Given the description of an element on the screen output the (x, y) to click on. 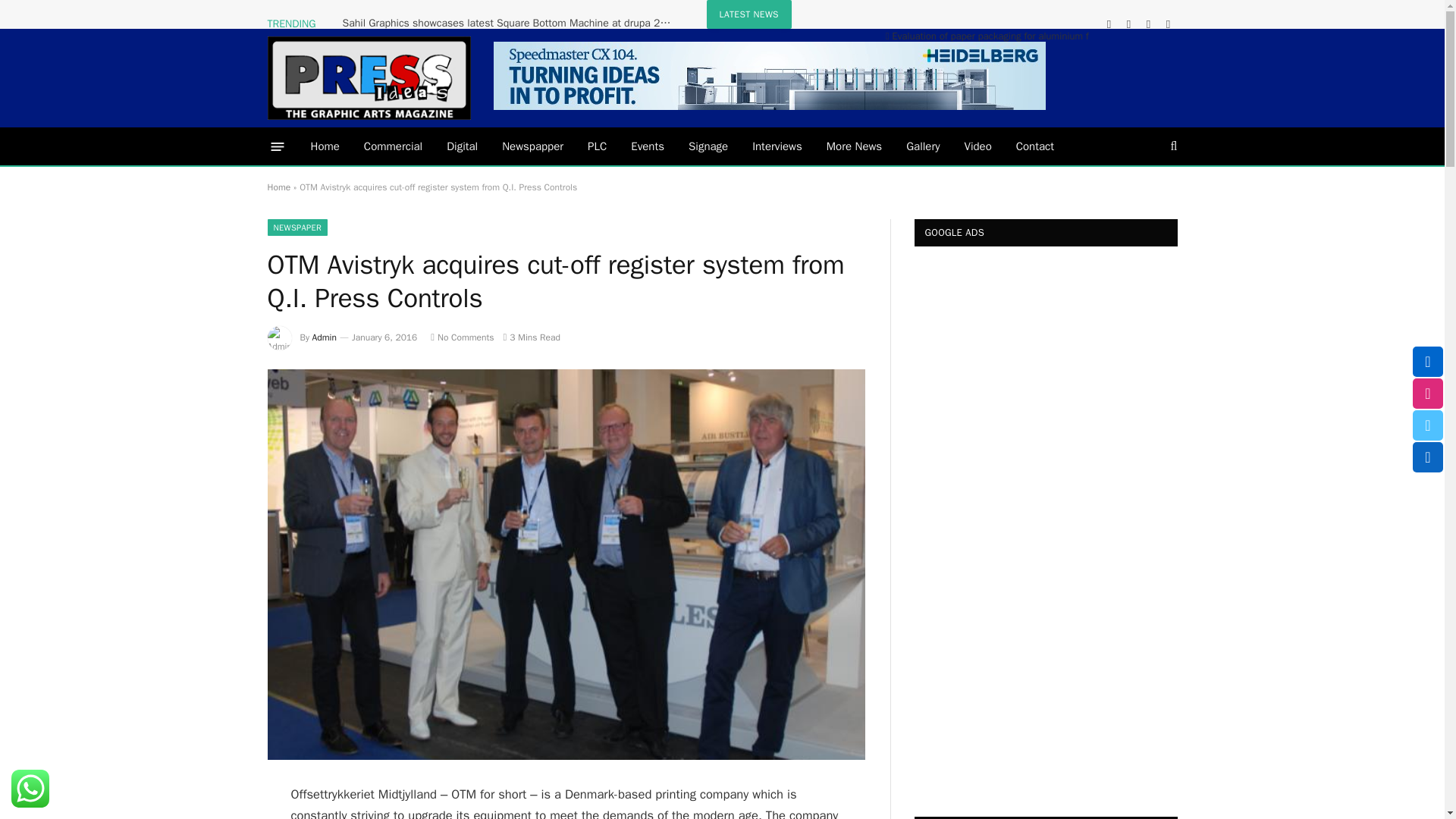
Posts by Admin (324, 337)
PRESSIdeas (368, 77)
